Given the description of an element on the screen output the (x, y) to click on. 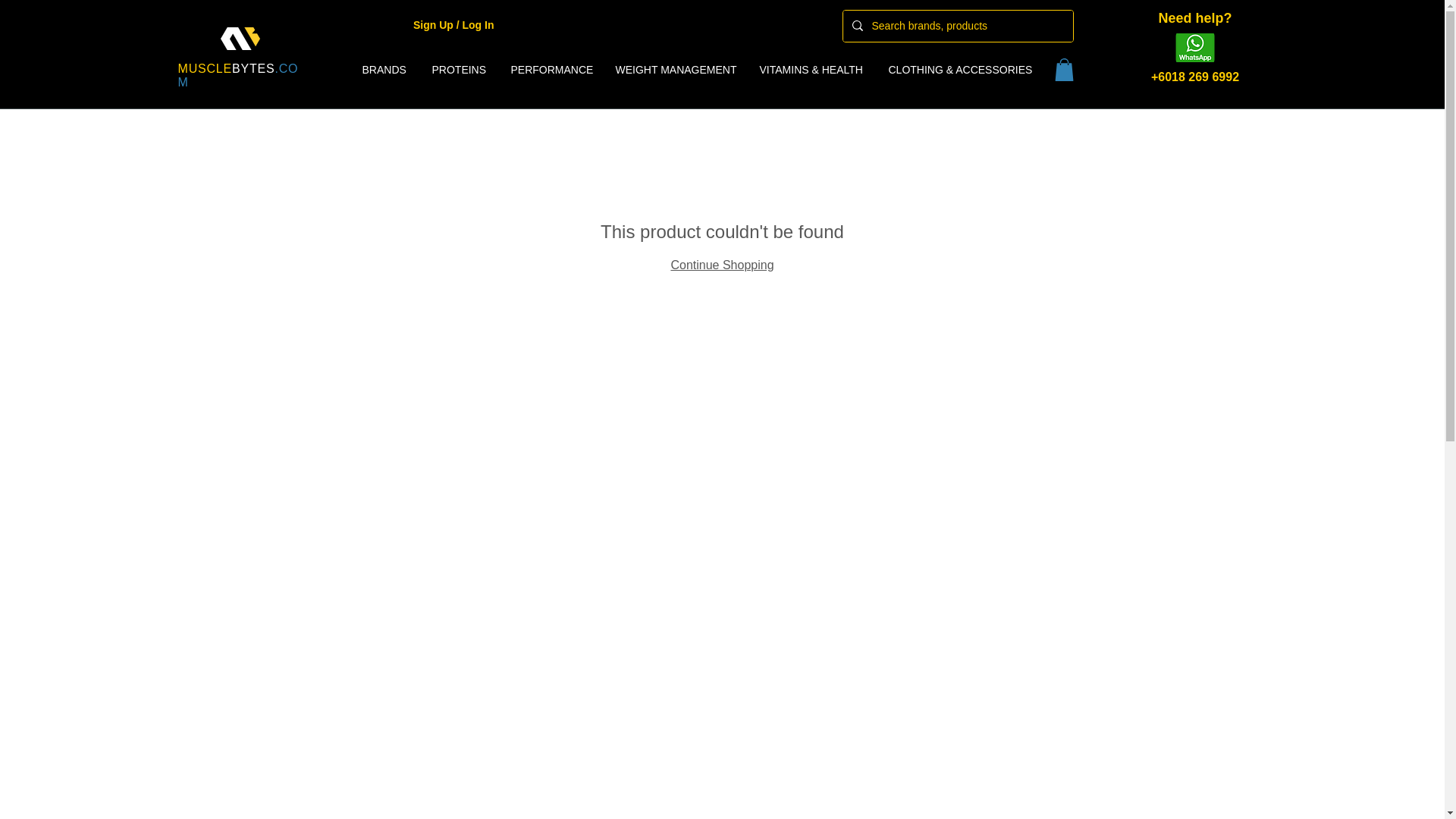
MUSCLEBYTES.COM (237, 75)
WEIGHT MANAGEMENT (676, 69)
whatsapp icon that link to whatapp (1193, 47)
PROTEINS (459, 69)
PERFORMANCE (551, 69)
BRANDS (385, 69)
Icon of muscle bytes company (239, 38)
